Given the description of an element on the screen output the (x, y) to click on. 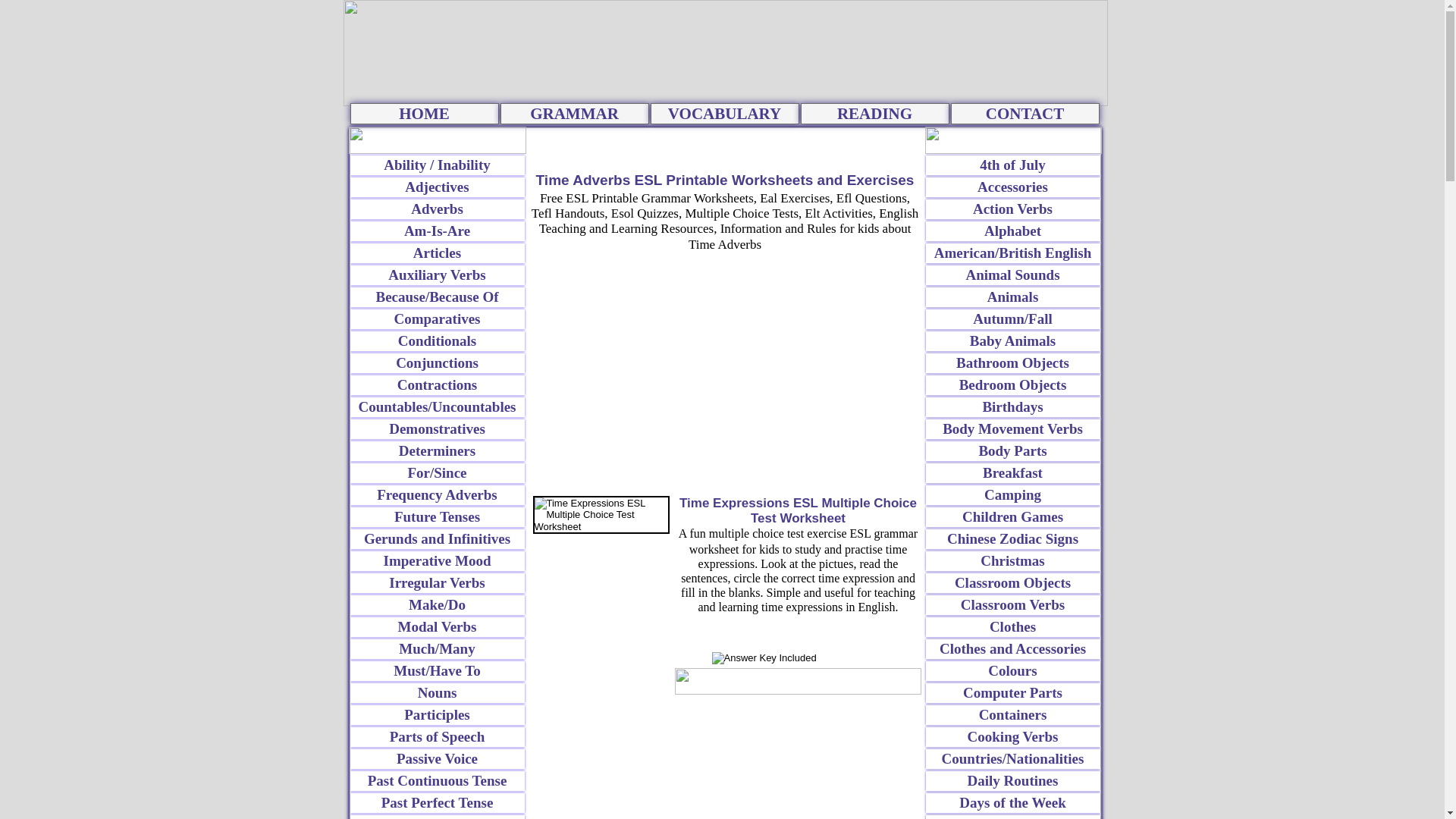
Answer Key Included (797, 659)
READING (874, 113)
HOME (424, 113)
VOCABULARY (724, 113)
GRAMMAR (574, 113)
CONTACT (1024, 113)
